Given the description of an element on the screen output the (x, y) to click on. 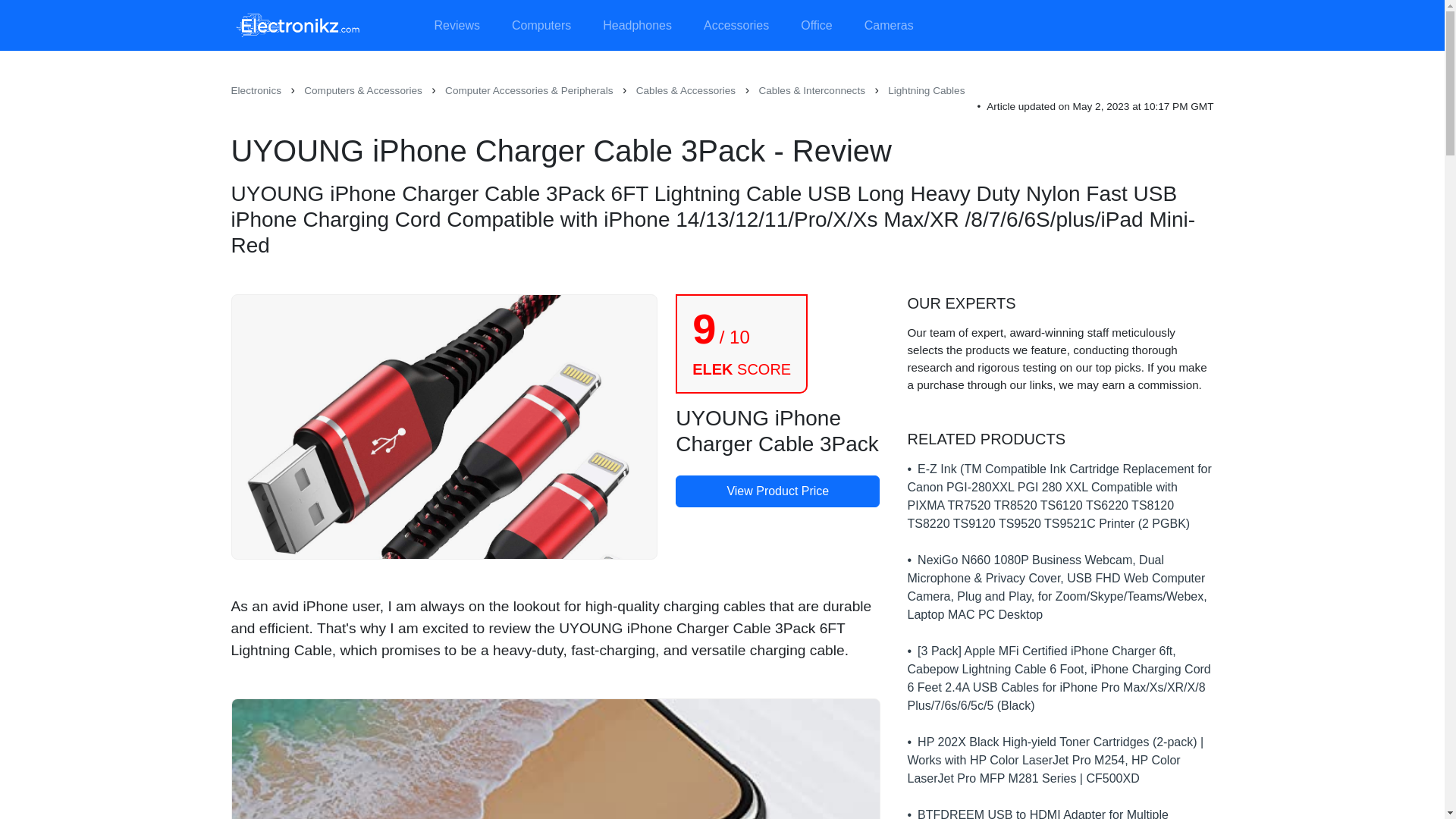
Reviews (457, 25)
Office (816, 25)
Computers (541, 25)
Accessories (735, 25)
Headphones (637, 25)
Cameras (888, 25)
Lightning Cables (925, 90)
View Product Price (777, 490)
Electronics (255, 90)
